Given the description of an element on the screen output the (x, y) to click on. 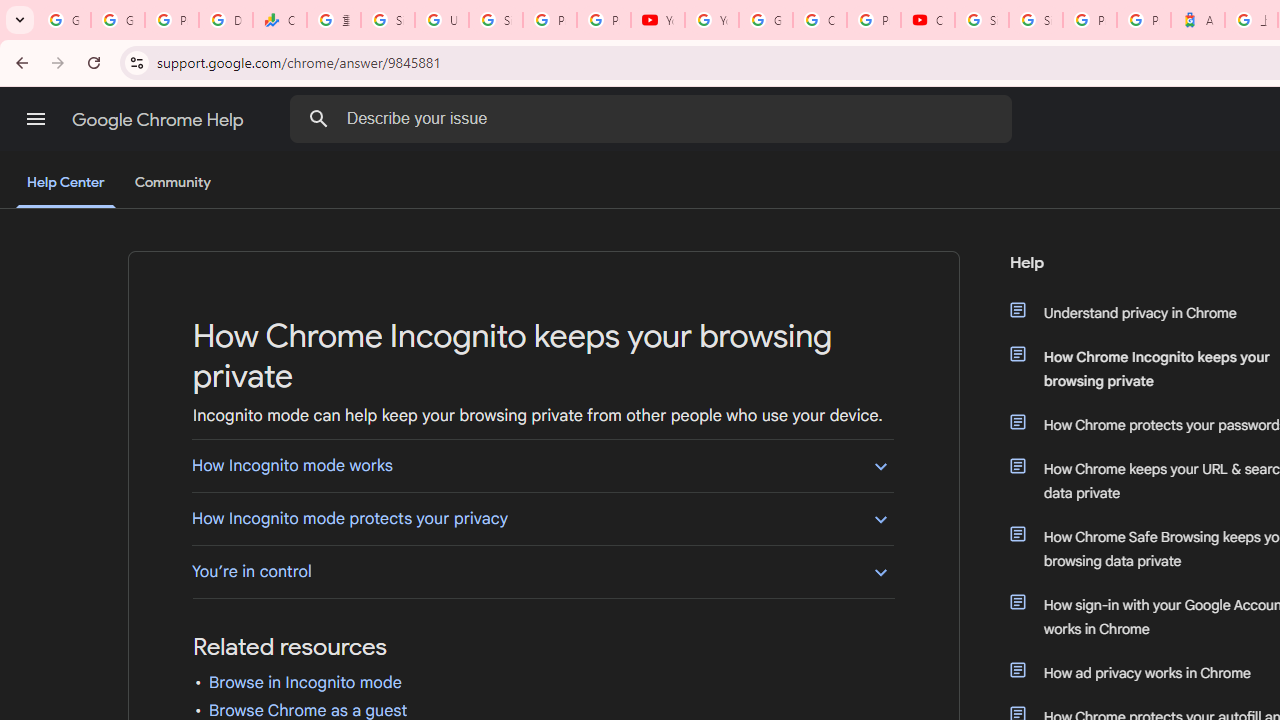
YouTube (711, 20)
Describe your issue (653, 118)
Currencies - Google Finance (280, 20)
How Incognito mode protects your privacy (542, 518)
Community (171, 183)
Google Chrome Help (159, 119)
